Given the description of an element on the screen output the (x, y) to click on. 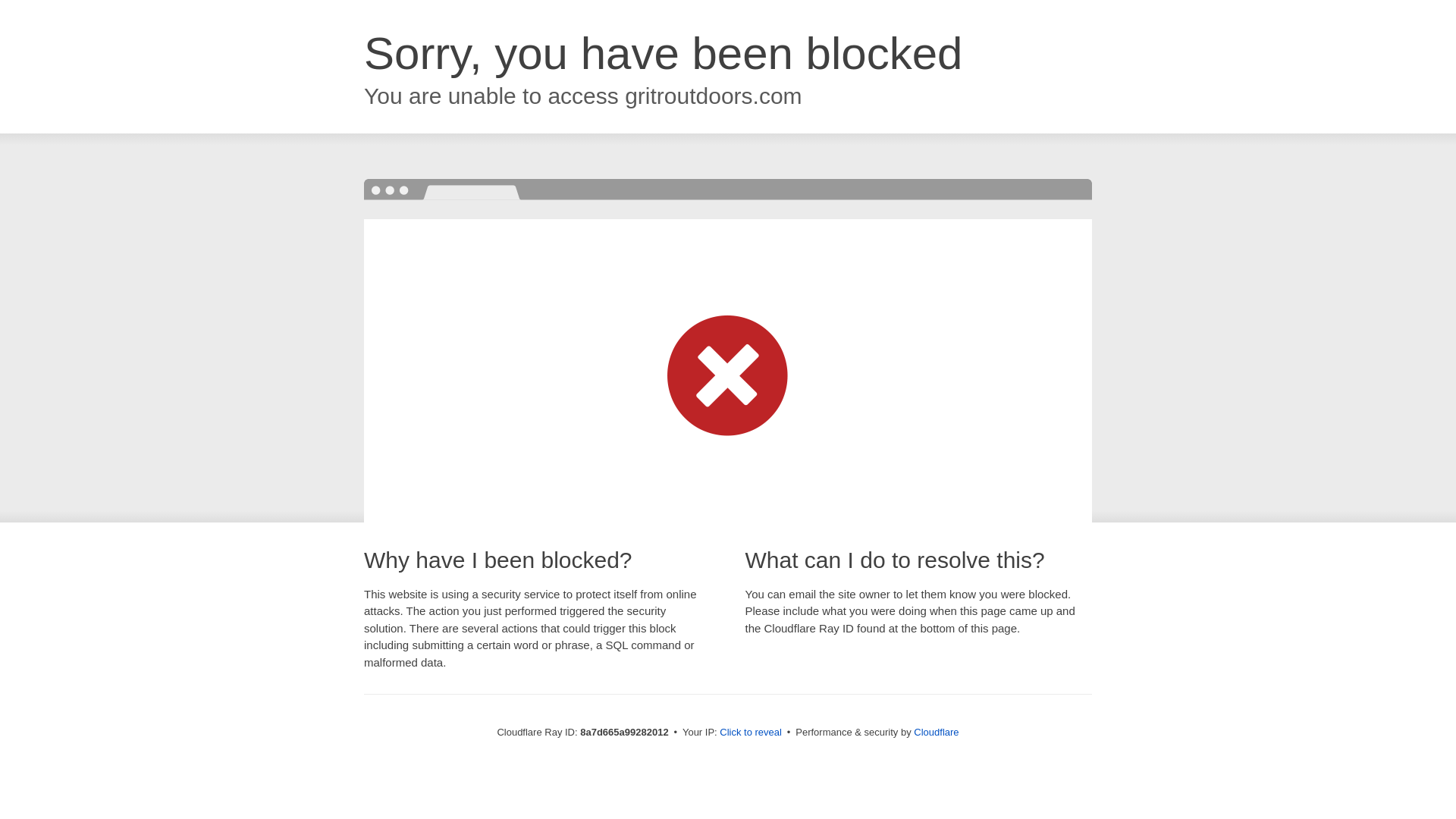
Click to reveal (750, 732)
Cloudflare (936, 731)
